Given the description of an element on the screen output the (x, y) to click on. 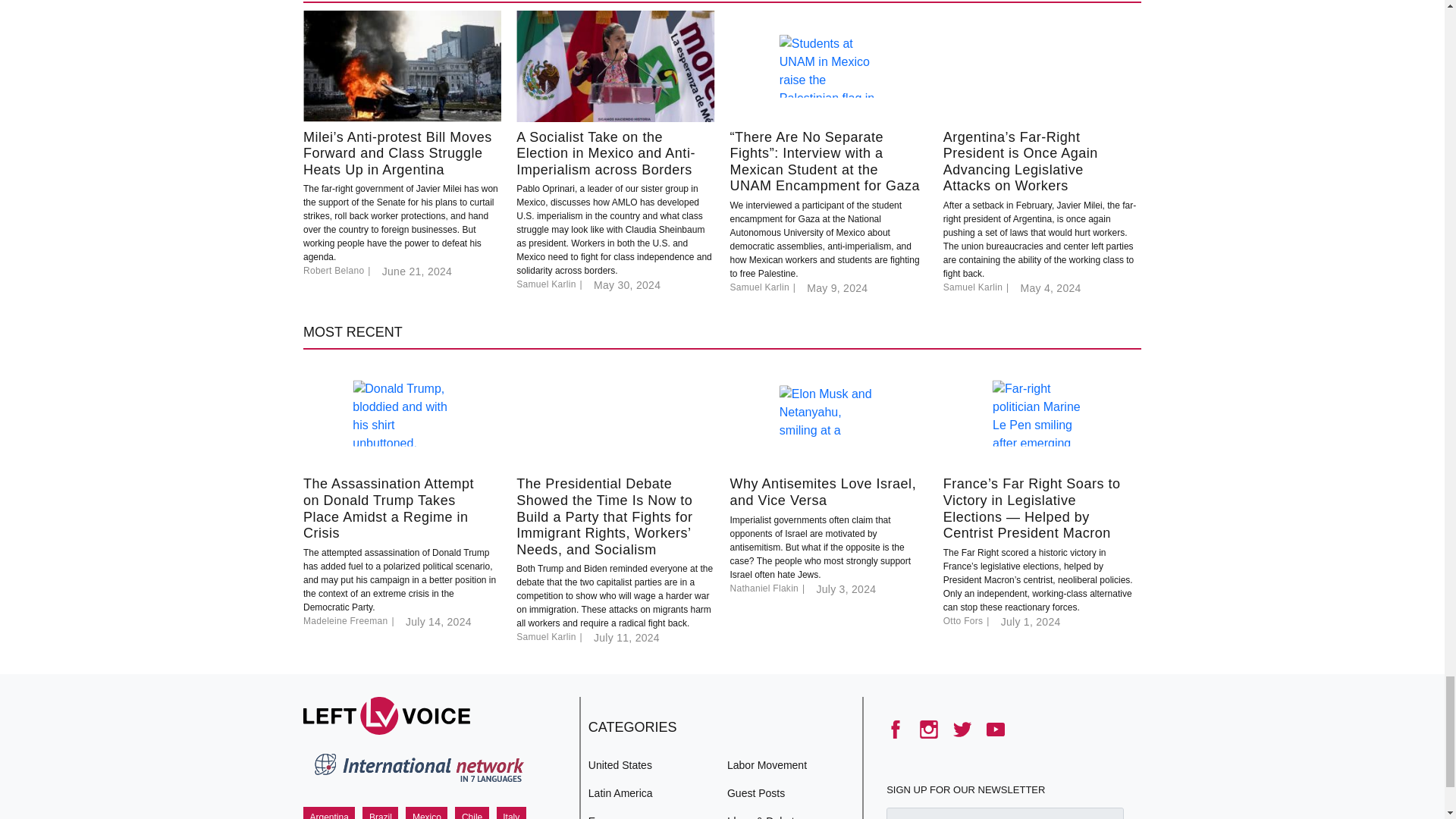
Left Voice (386, 715)
International Network (417, 770)
